Given the description of an element on the screen output the (x, y) to click on. 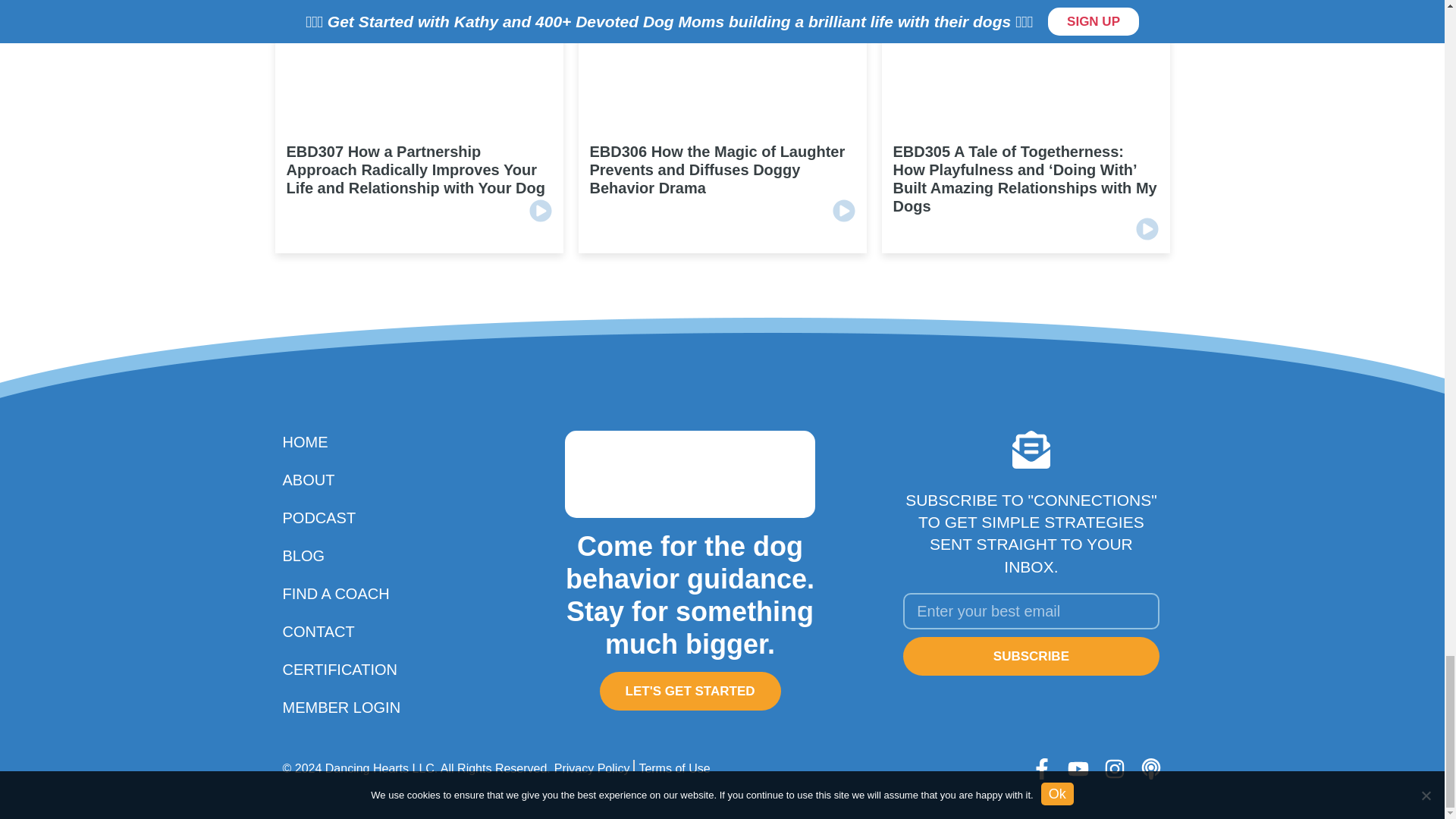
BLOG (352, 555)
ABOUT (352, 479)
FIND A COACH (352, 593)
PODCAST (352, 517)
HOME (352, 441)
